Given the description of an element on the screen output the (x, y) to click on. 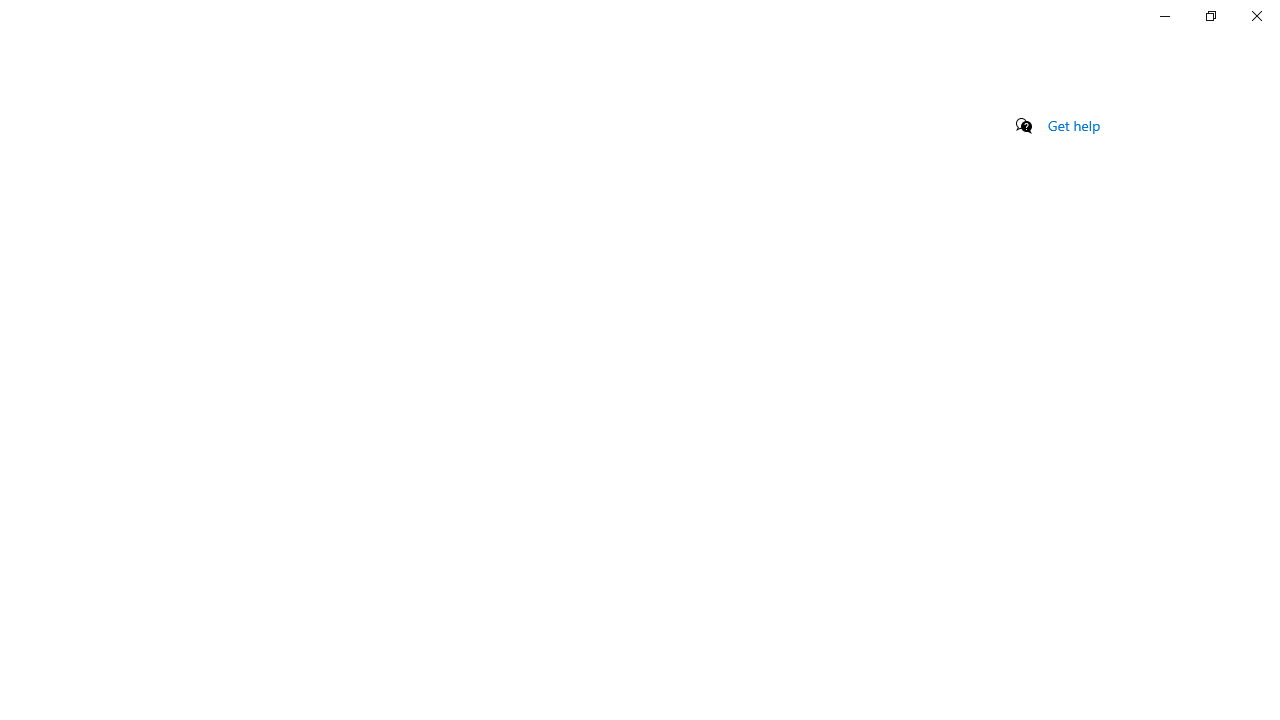
Get help (1074, 125)
Minimize Settings (1164, 15)
Close Settings (1256, 15)
Restore Settings (1210, 15)
